Given the description of an element on the screen output the (x, y) to click on. 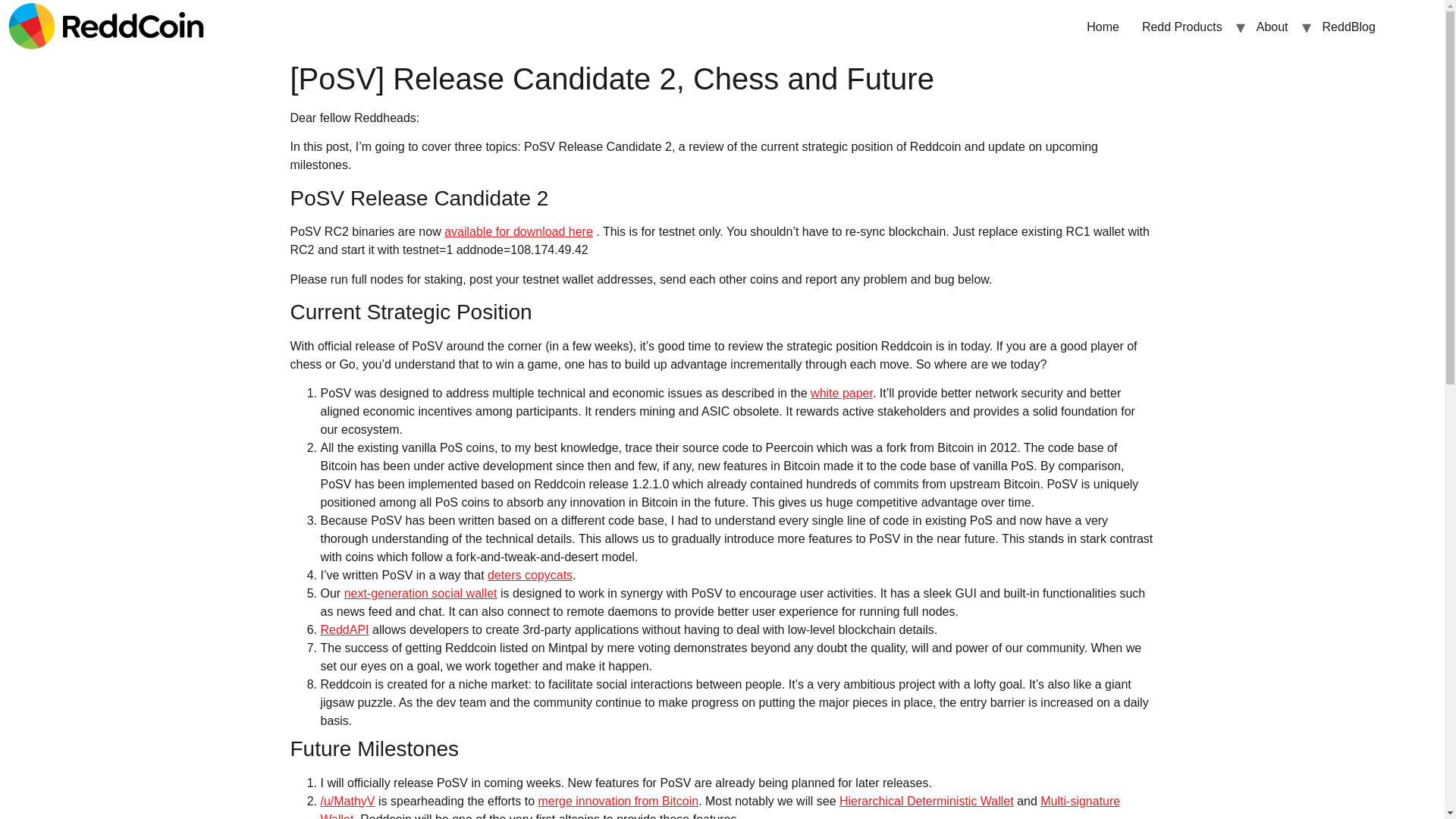
merge innovation from Bitcoin (617, 800)
About (1272, 27)
Multi-signature Wallet (719, 806)
ReddAPI (344, 629)
available for download here (518, 231)
ReddBlog (1349, 27)
Hierarchical Deterministic Wallet (926, 800)
deters copycats (529, 574)
Redd Products (1182, 27)
white paper (841, 392)
Home (1103, 27)
next-generation social wallet (420, 593)
